Given the description of an element on the screen output the (x, y) to click on. 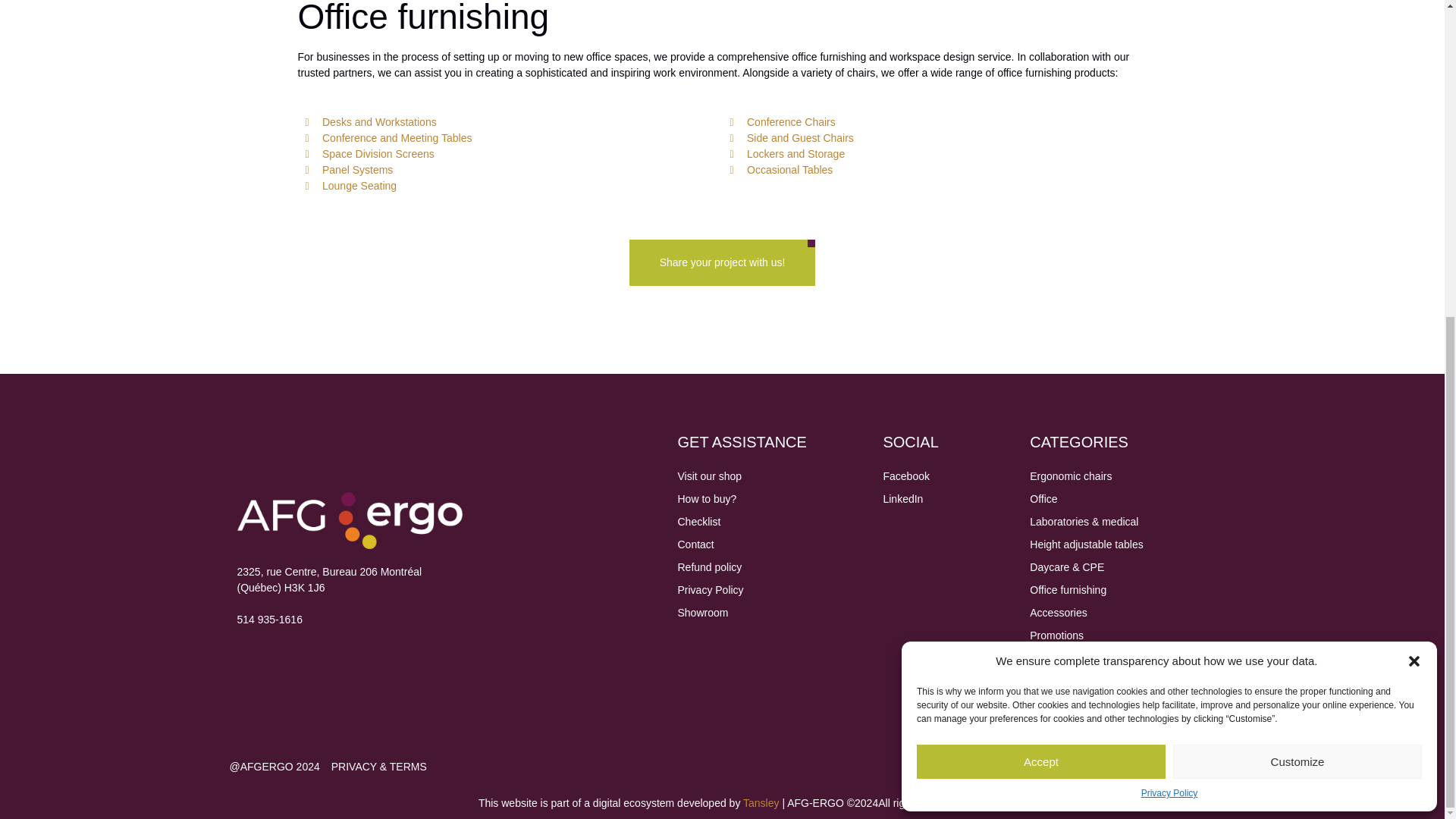
Customize (1297, 252)
Privacy Policy (1169, 283)
Accept (1041, 252)
